Given the description of an element on the screen output the (x, y) to click on. 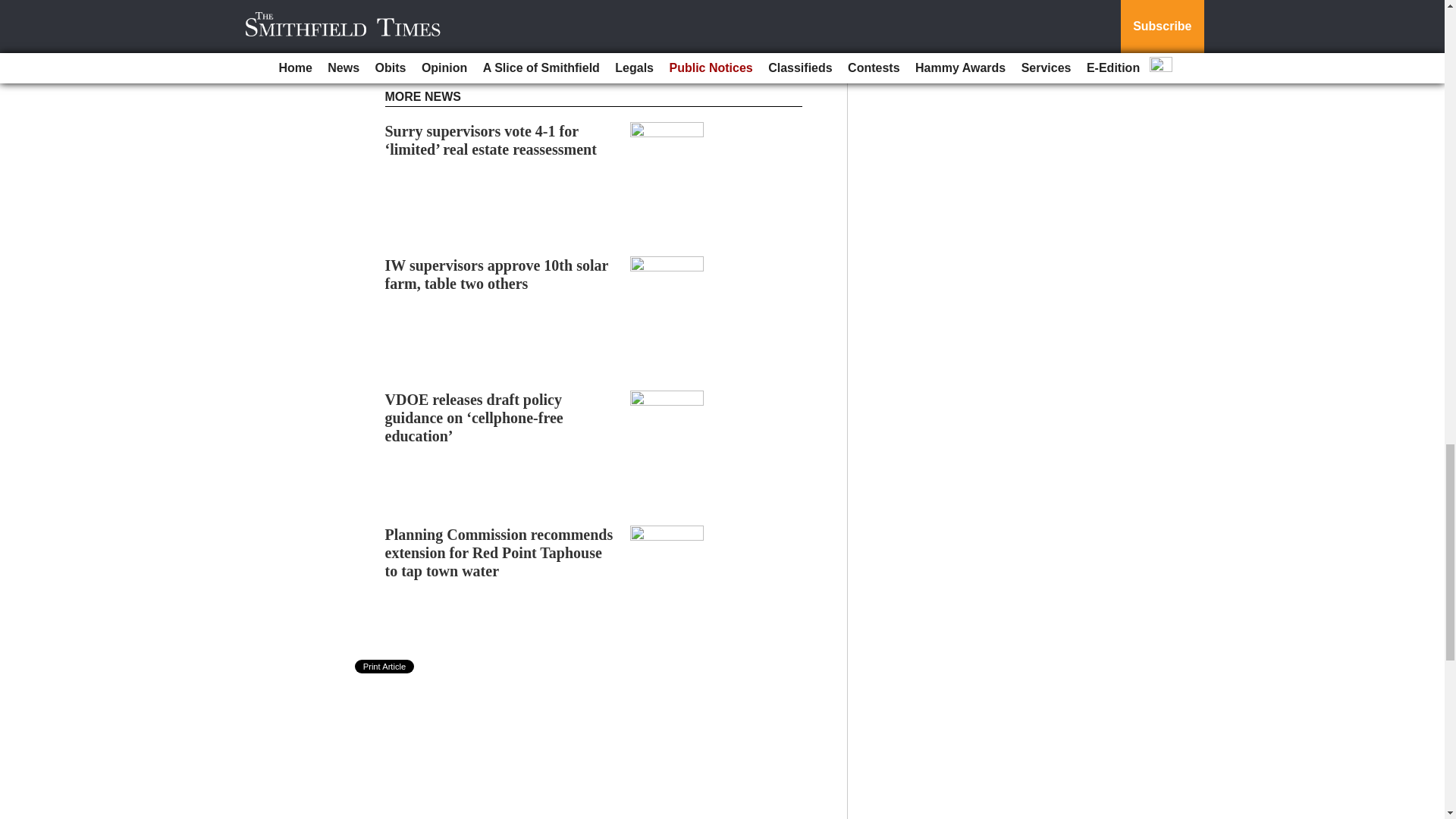
IW supervisors approve 10th solar farm, table two others (496, 274)
Print Article (384, 666)
IW supervisors approve 10th solar farm, table two others (496, 274)
